Given the description of an element on the screen output the (x, y) to click on. 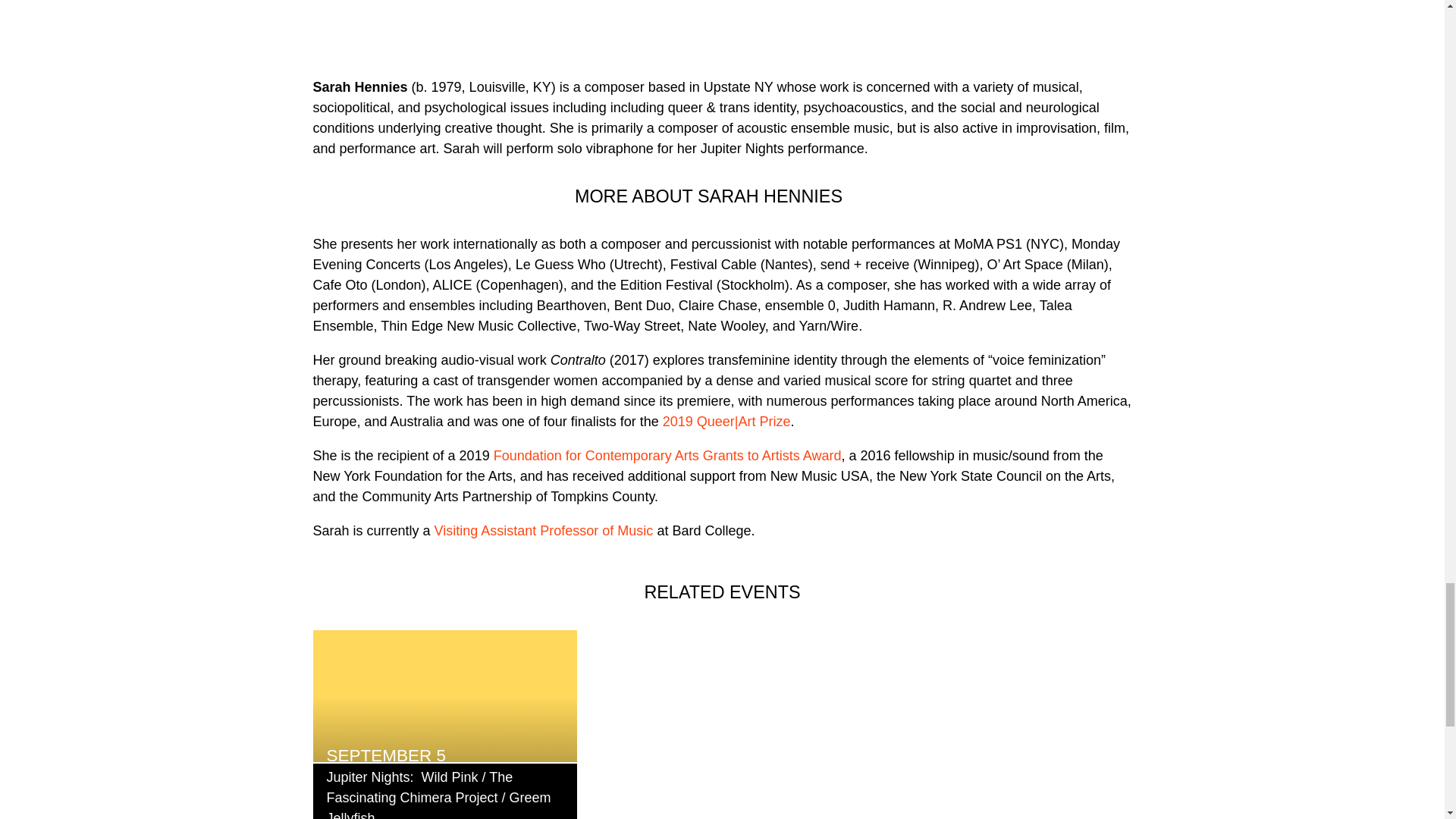
SEPTEMBER 5 (444, 695)
Visiting Assistant Professor of Music (543, 530)
Foundation for Contemporary Arts Grants to Artists Award (665, 455)
